Given the description of an element on the screen output the (x, y) to click on. 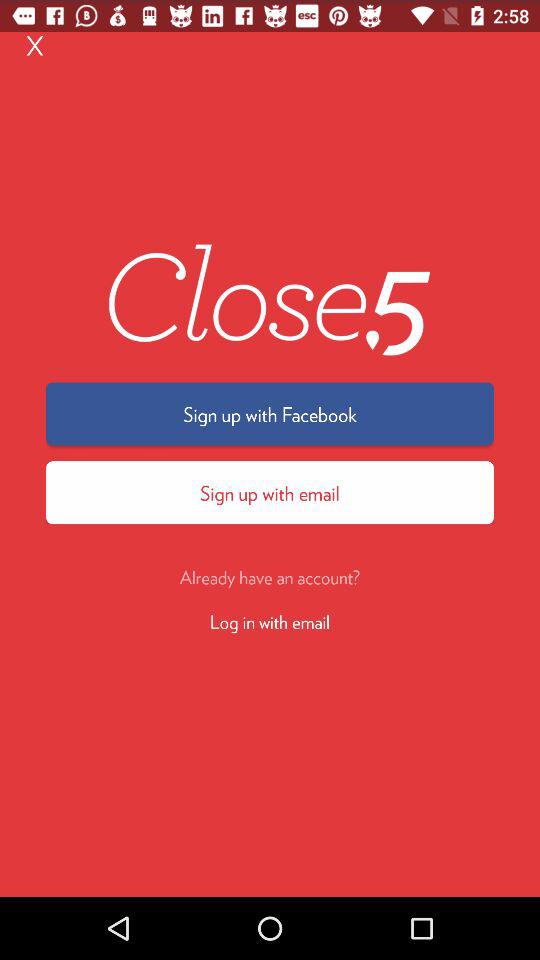
scroll to x (35, 44)
